Given the description of an element on the screen output the (x, y) to click on. 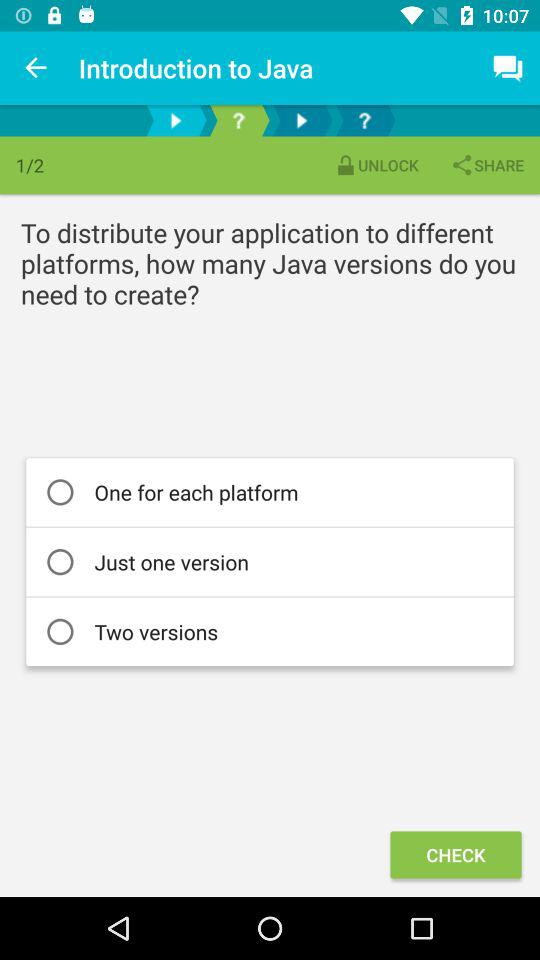
choose the icon to the left of the share item (375, 164)
